Given the description of an element on the screen output the (x, y) to click on. 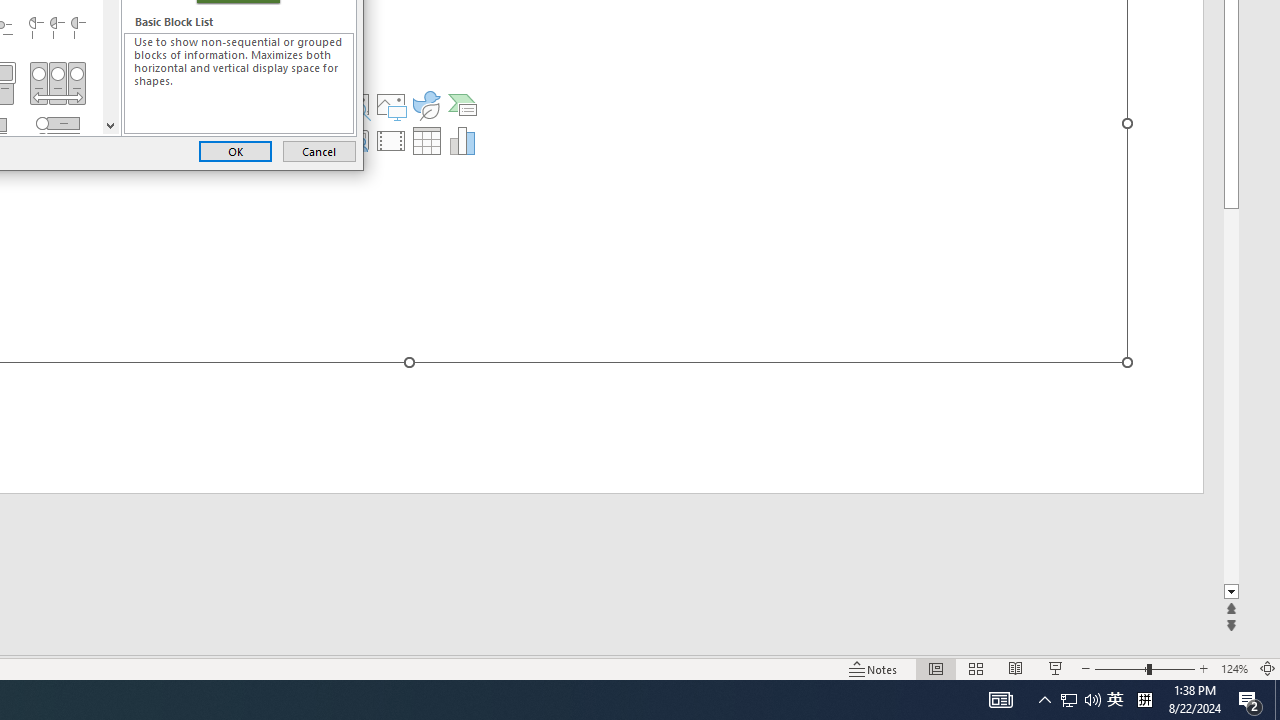
AutomationID: 4105 (1000, 699)
Reading View (1015, 668)
Insert an Icon (426, 104)
Zoom (1144, 668)
Normal (936, 668)
Tray Input Indicator - Chinese (Simplified, China) (1144, 699)
Insert Video (391, 140)
User Promoted Notification Area (1080, 699)
Zoom to Fit  (1267, 668)
Insert a SmartArt Graphic (1115, 699)
Show desktop (462, 104)
Insert Chart (1277, 699)
